Given the description of an element on the screen output the (x, y) to click on. 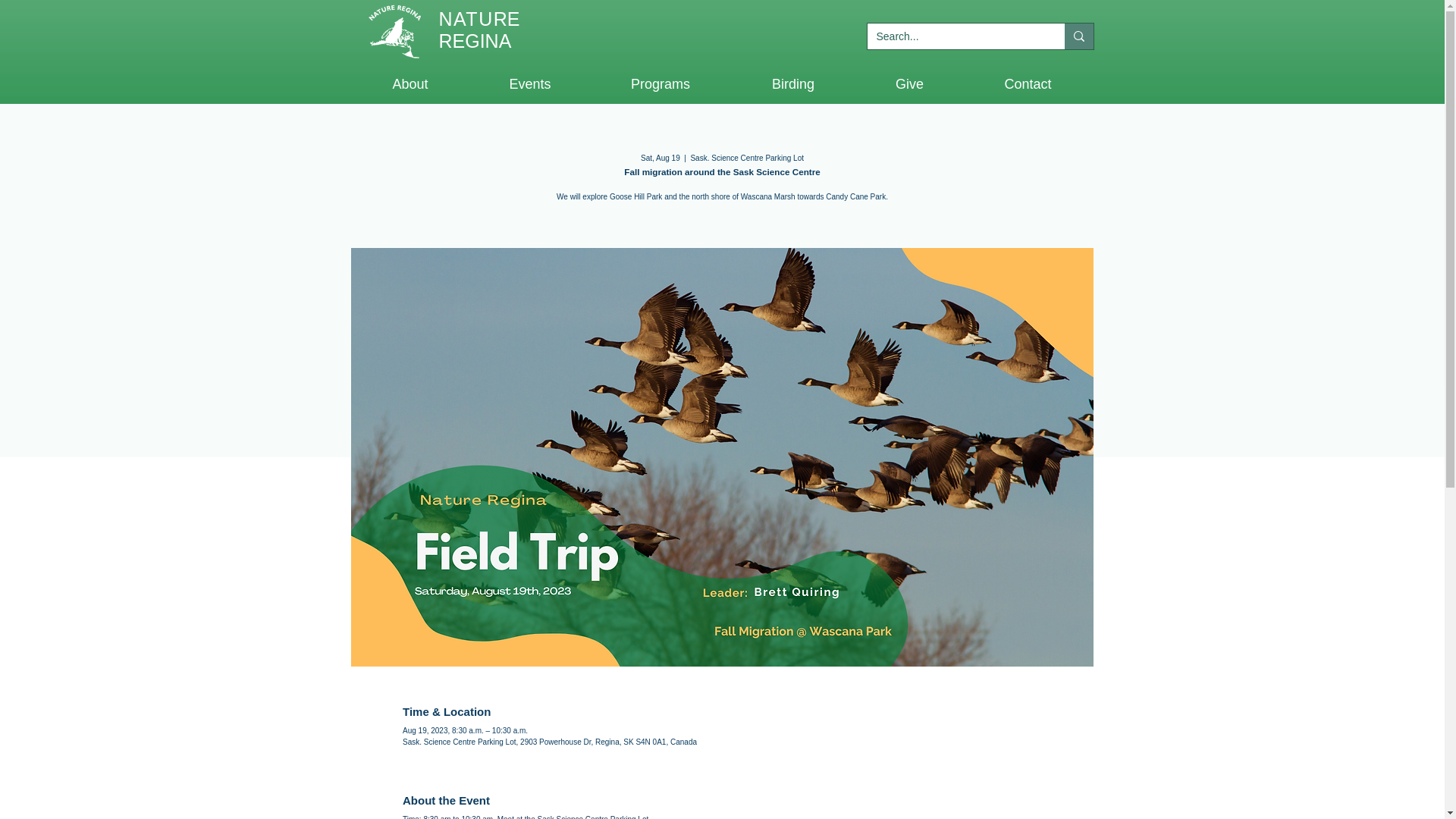
Give (909, 84)
About (409, 84)
Programs (659, 84)
NATURE (478, 18)
Events (530, 84)
Birding (793, 84)
REGINA (474, 40)
Contact (1027, 84)
